Given the description of an element on the screen output the (x, y) to click on. 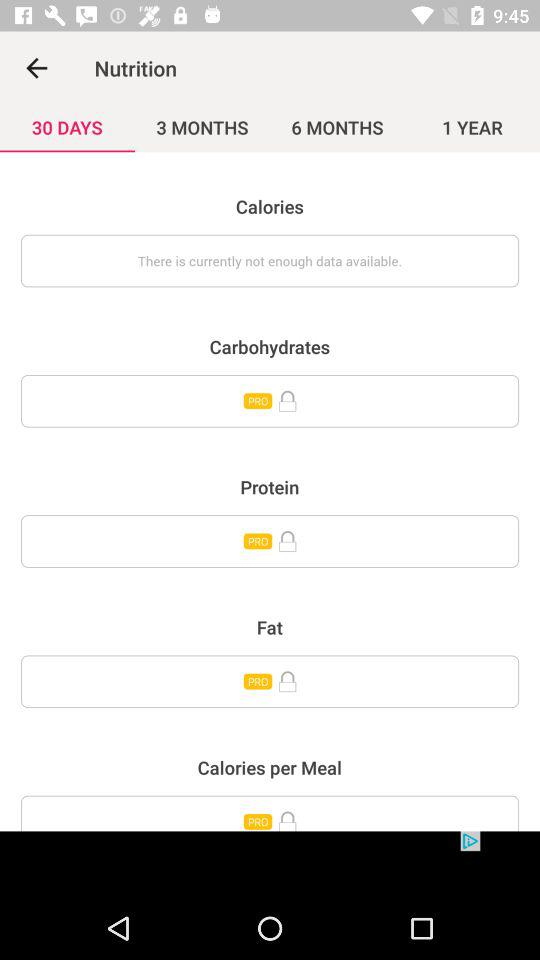
select advertisement (270, 864)
